Given the description of an element on the screen output the (x, y) to click on. 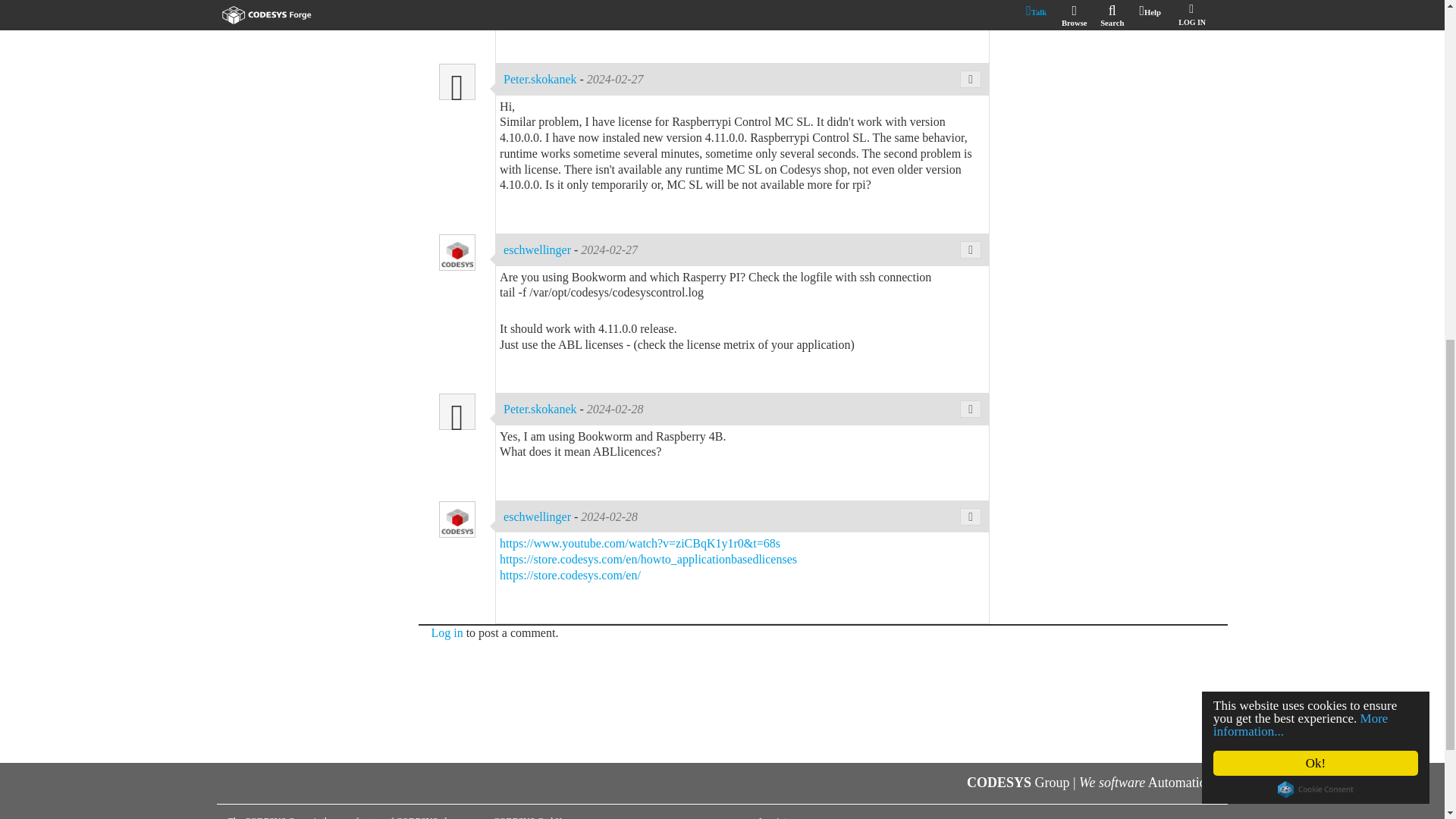
Cookie Consent plugin for the EU cookie law (1317, 132)
eschwellinger (457, 4)
Tue Feb 27, 2024 01:32 PM UTC (614, 78)
Peter.skokanek (541, 78)
More information... (1302, 67)
User (457, 81)
Ok! (1319, 106)
Shortlink (970, 78)
